Given the description of an element on the screen output the (x, y) to click on. 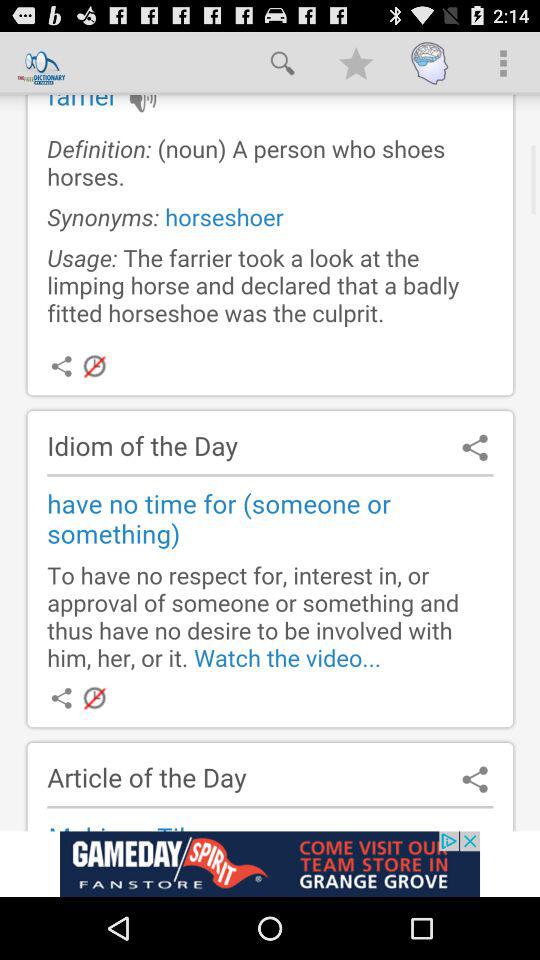
go to advertisement page (270, 864)
